Given the description of an element on the screen output the (x, y) to click on. 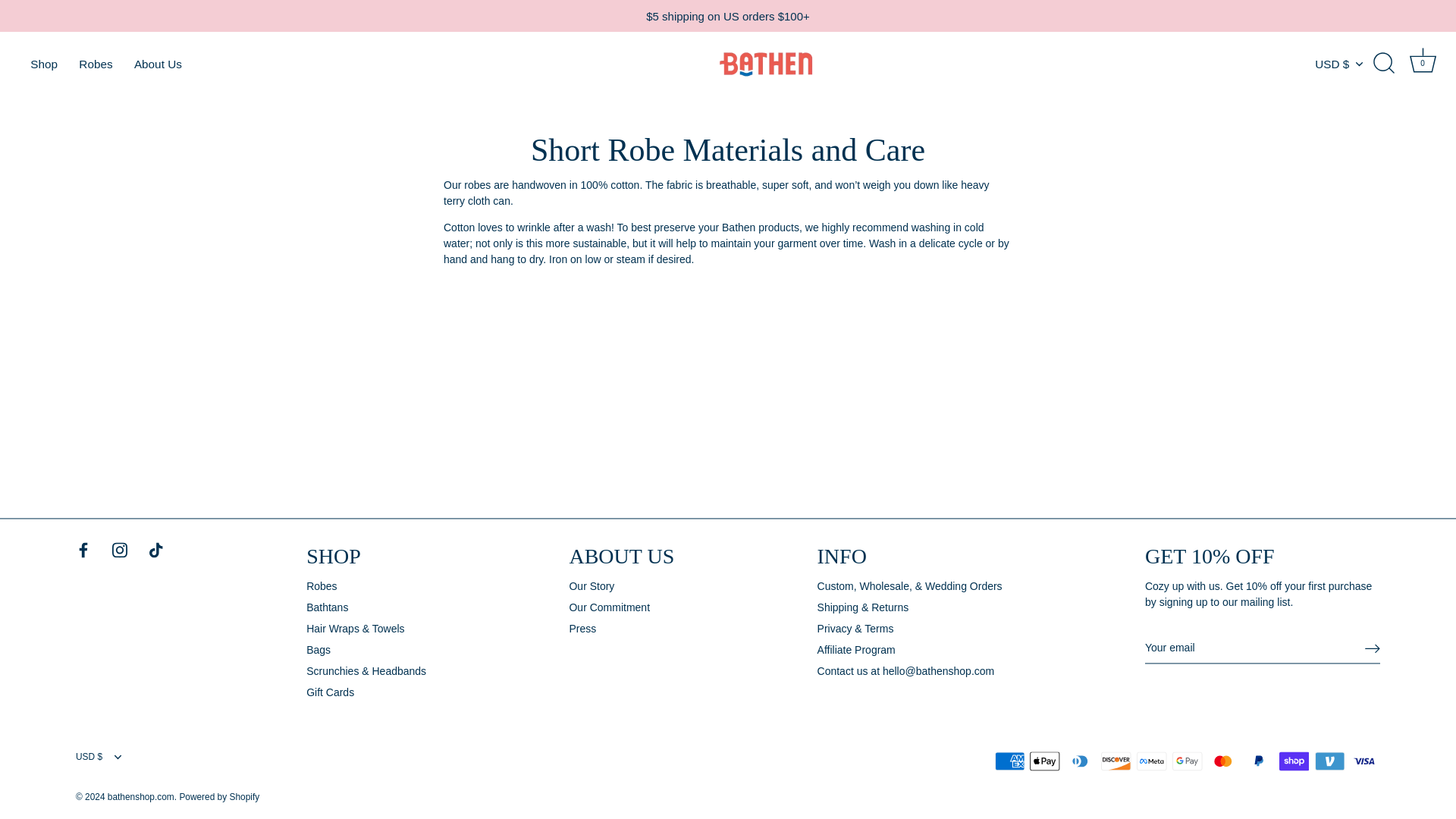
Discover (1115, 761)
Visa (1364, 761)
Mastercard (1222, 761)
Shop (43, 62)
Google Pay (1187, 761)
RIGHT ARROW LONG (1372, 648)
Shop Pay (1293, 761)
Meta Pay (1151, 761)
Diners Club (1079, 761)
Robes (95, 62)
